Given the description of an element on the screen output the (x, y) to click on. 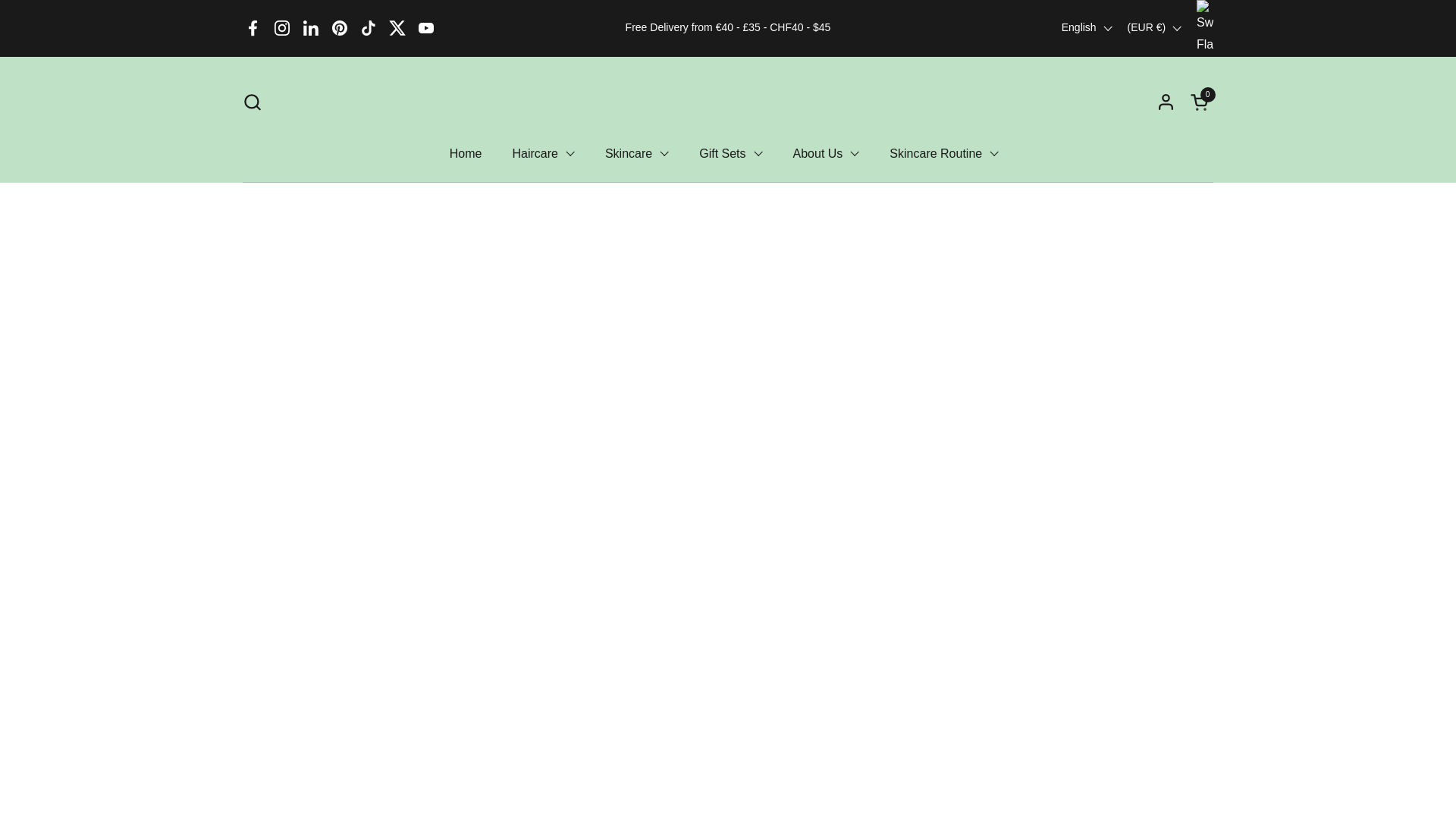
Open cart (1201, 101)
Haircare (542, 153)
LinkedIn (310, 27)
Pinterest (338, 27)
About Us (826, 153)
Skincare (636, 153)
YouTube (1201, 101)
Skip to content (426, 27)
